Given the description of an element on the screen output the (x, y) to click on. 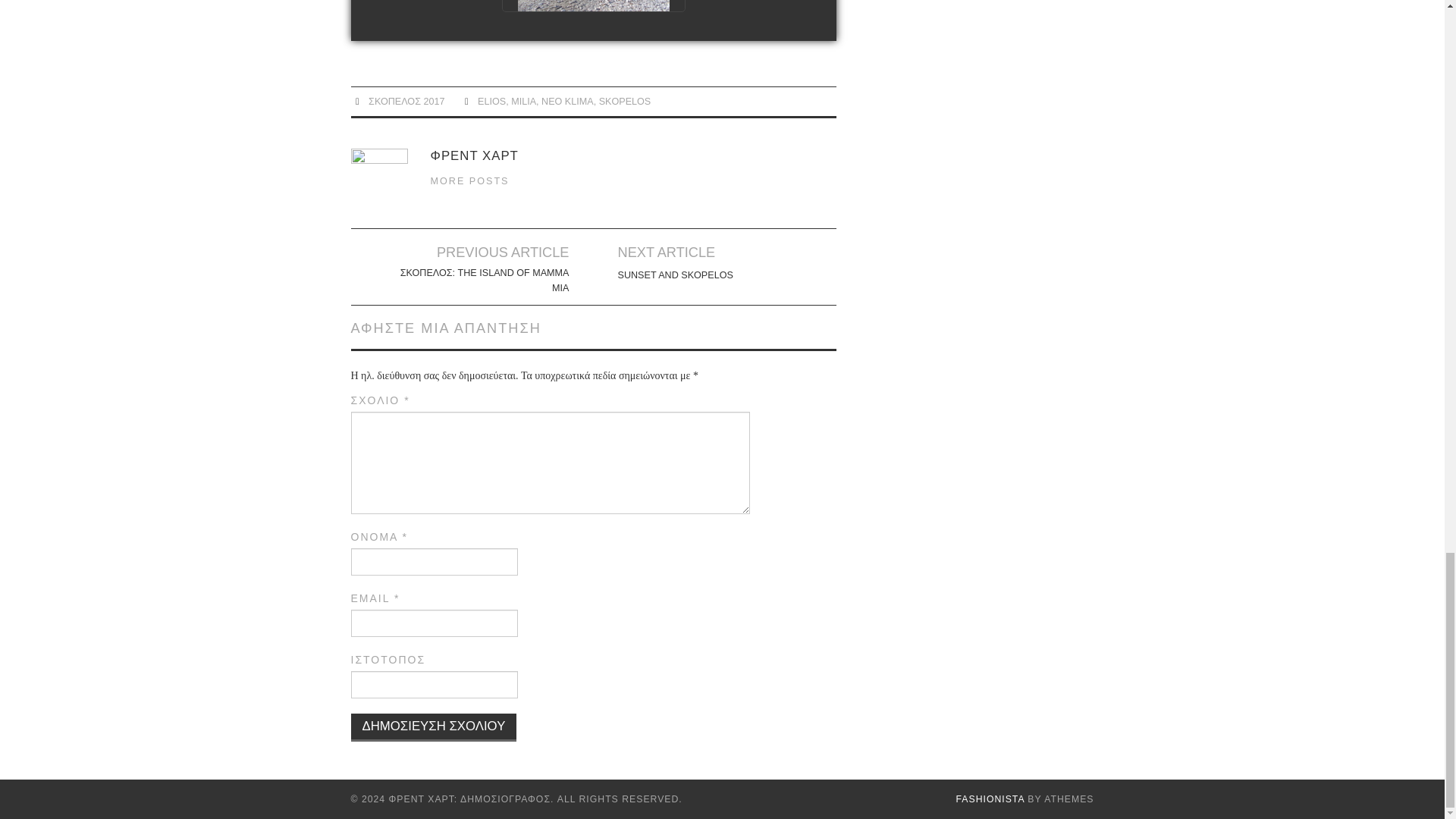
MILIA (523, 101)
FASHIONISTA (990, 798)
ELIOS (491, 101)
SUNSET AND SKOPELOS (674, 274)
NEO KLIMA (567, 101)
MORE POSTS (469, 181)
SKOPELOS (624, 101)
